Given the description of an element on the screen output the (x, y) to click on. 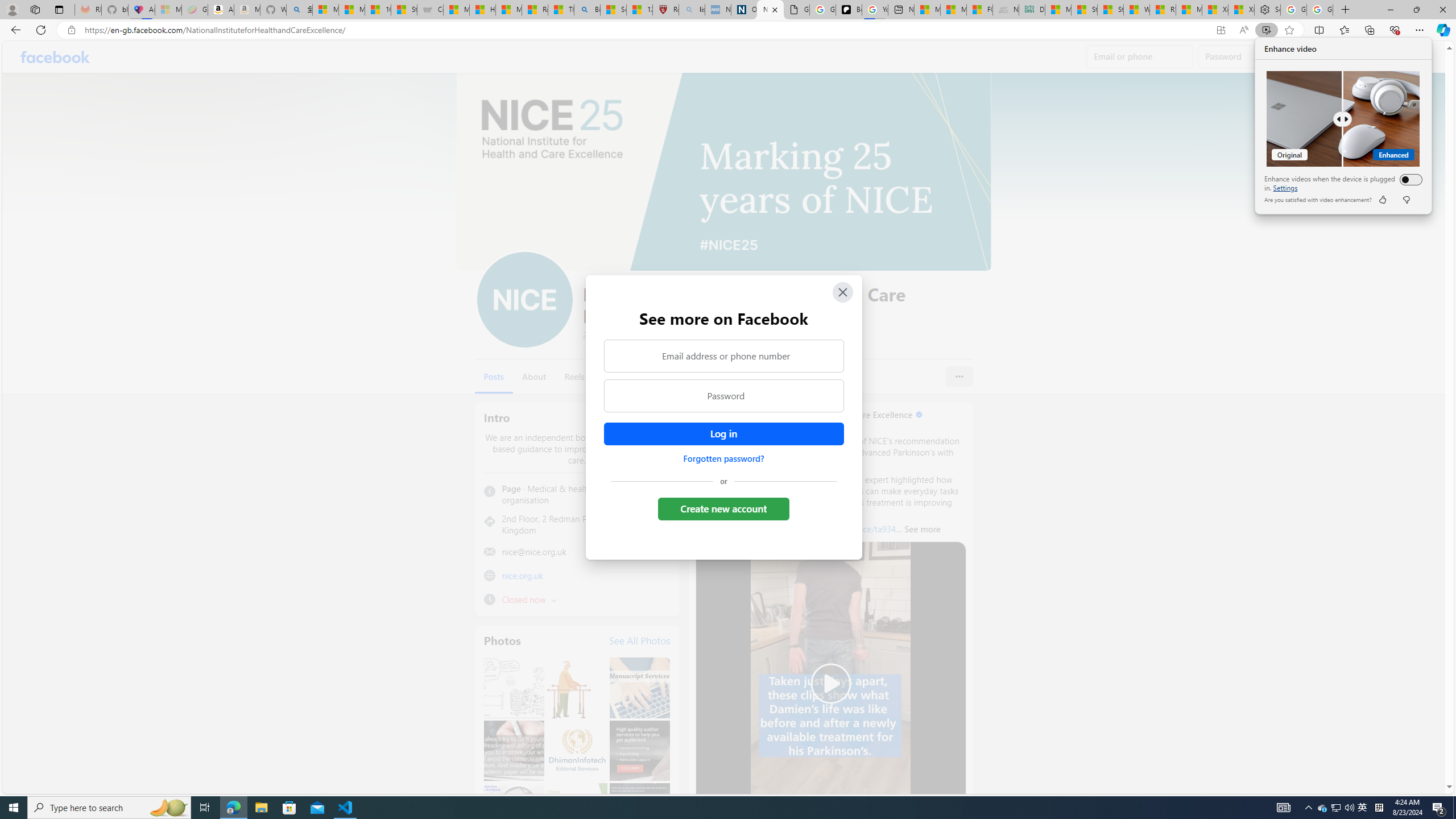
Facebook (55, 56)
Action Center, 2 new notifications (1439, 807)
Google Analytics Opt-out Browser Add-on Download Page (795, 9)
Create new account (724, 508)
Bing (587, 9)
Like (1382, 199)
File Explorer (261, 807)
NCL Adult Asthma Inhaler Choice Guideline - Sleeping (717, 9)
Robert H. Shmerling, MD - Harvard Health (665, 9)
Email address or phone number (723, 355)
Start (13, 807)
Address and search bar (647, 29)
AutomationID: 4105 (1283, 807)
